Given the description of an element on the screen output the (x, y) to click on. 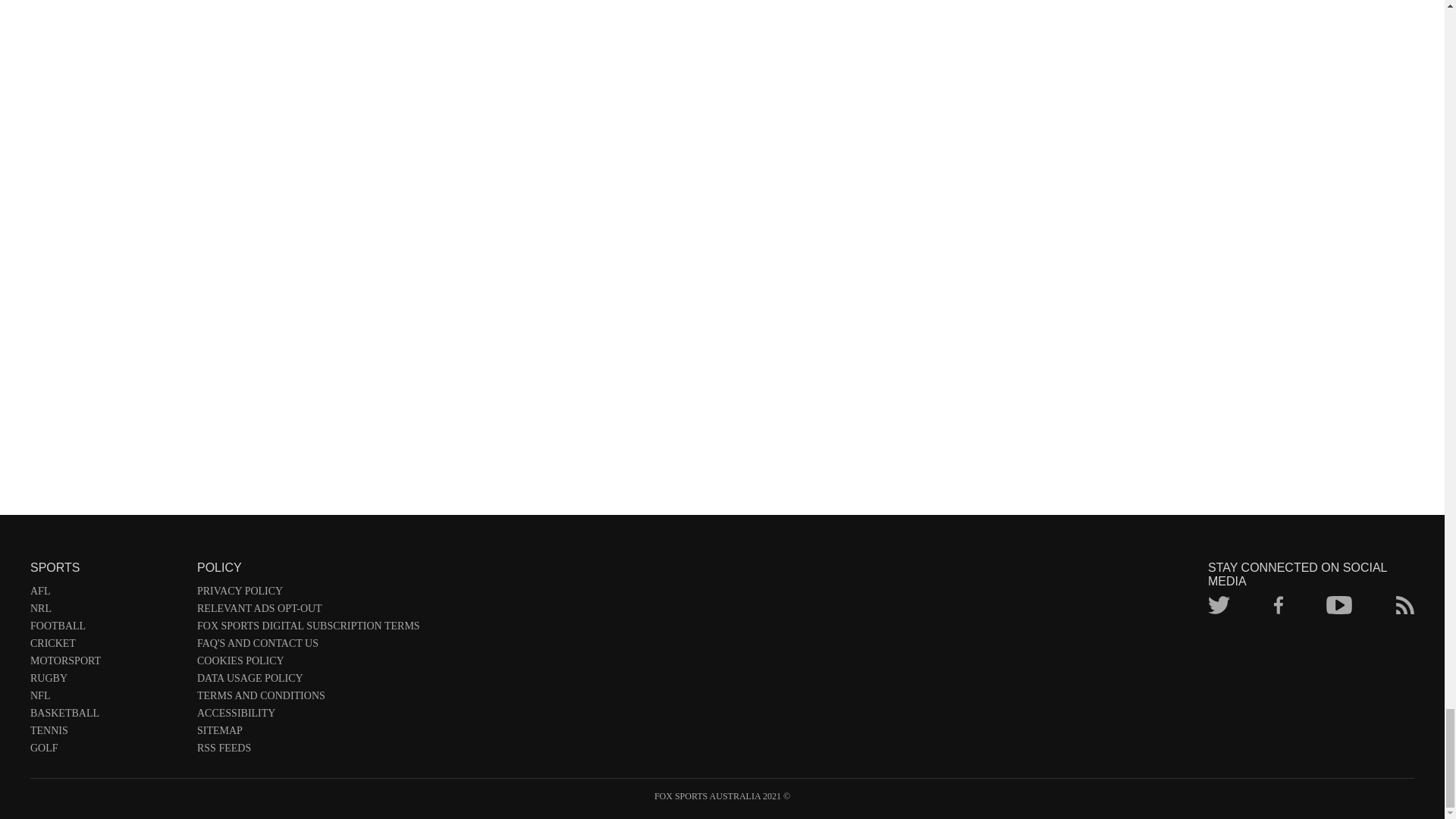
FOOTBALL (106, 628)
MOTORSPORT (106, 663)
TENNIS (106, 733)
RELEVANT ADS OPT-OUT (308, 610)
FAQ'S AND CONTACT US (308, 646)
NRL (106, 610)
COOKIES POLICY (308, 663)
RUGBY (106, 681)
FOX SPORTS DIGITAL SUBSCRIPTION TERMS (308, 628)
DATA USAGE POLICY (308, 681)
